Given the description of an element on the screen output the (x, y) to click on. 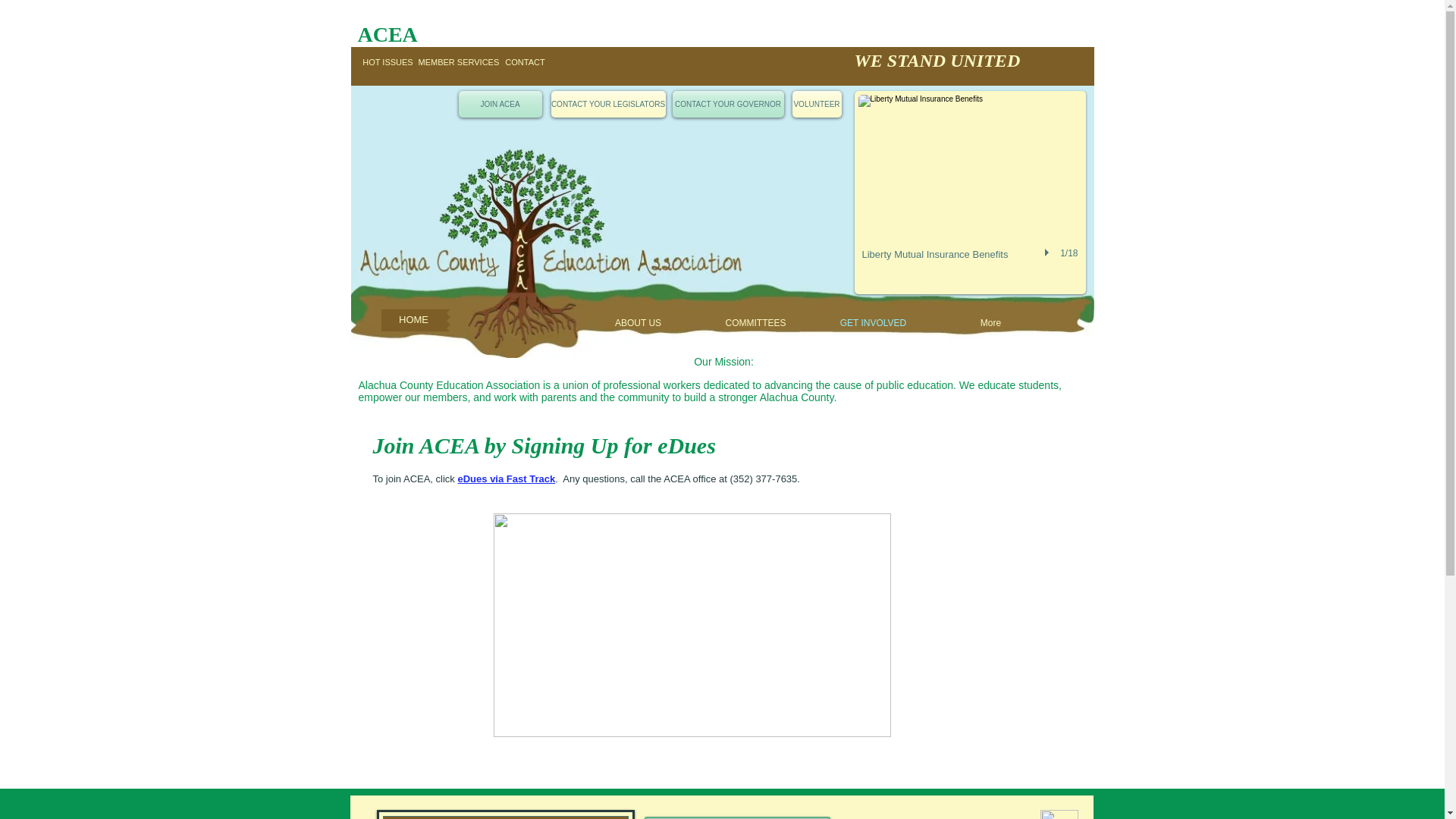
JOIN ACEA (499, 103)
CONTACT YOUR LEGISLATORS (607, 103)
COMMITTEES (755, 323)
Dues Structure Slide.png (691, 625)
GET INVOLVED (872, 323)
VOLUNTEER (816, 103)
HOT ISSUES (388, 61)
MEMBER SERVICES (459, 61)
ABOUT US (638, 323)
CONTACT (524, 61)
